Given the description of an element on the screen output the (x, y) to click on. 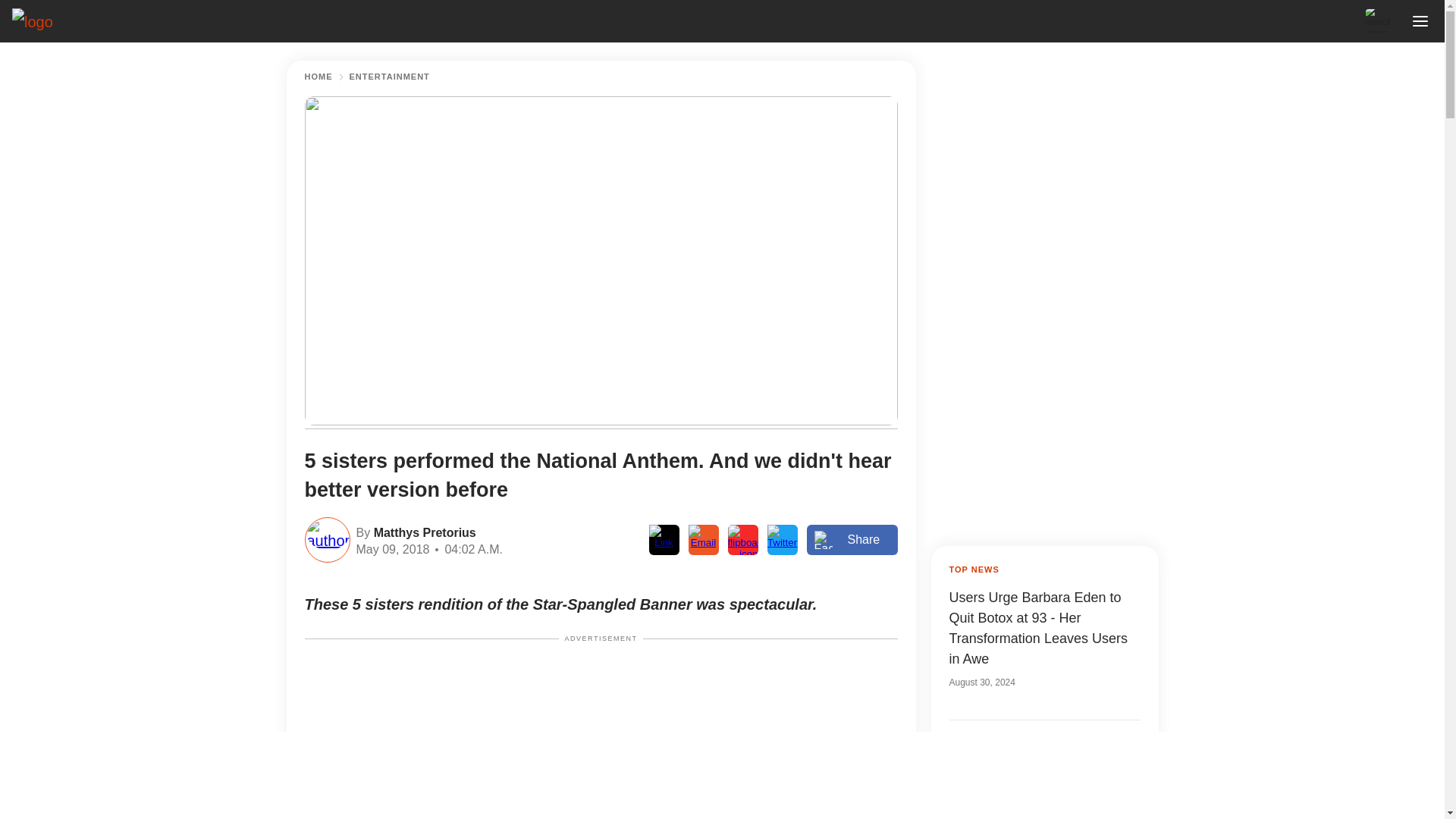
ENTERTAINMENT (389, 76)
Matthys Pretorius (422, 531)
HOME (318, 76)
